Given the description of an element on the screen output the (x, y) to click on. 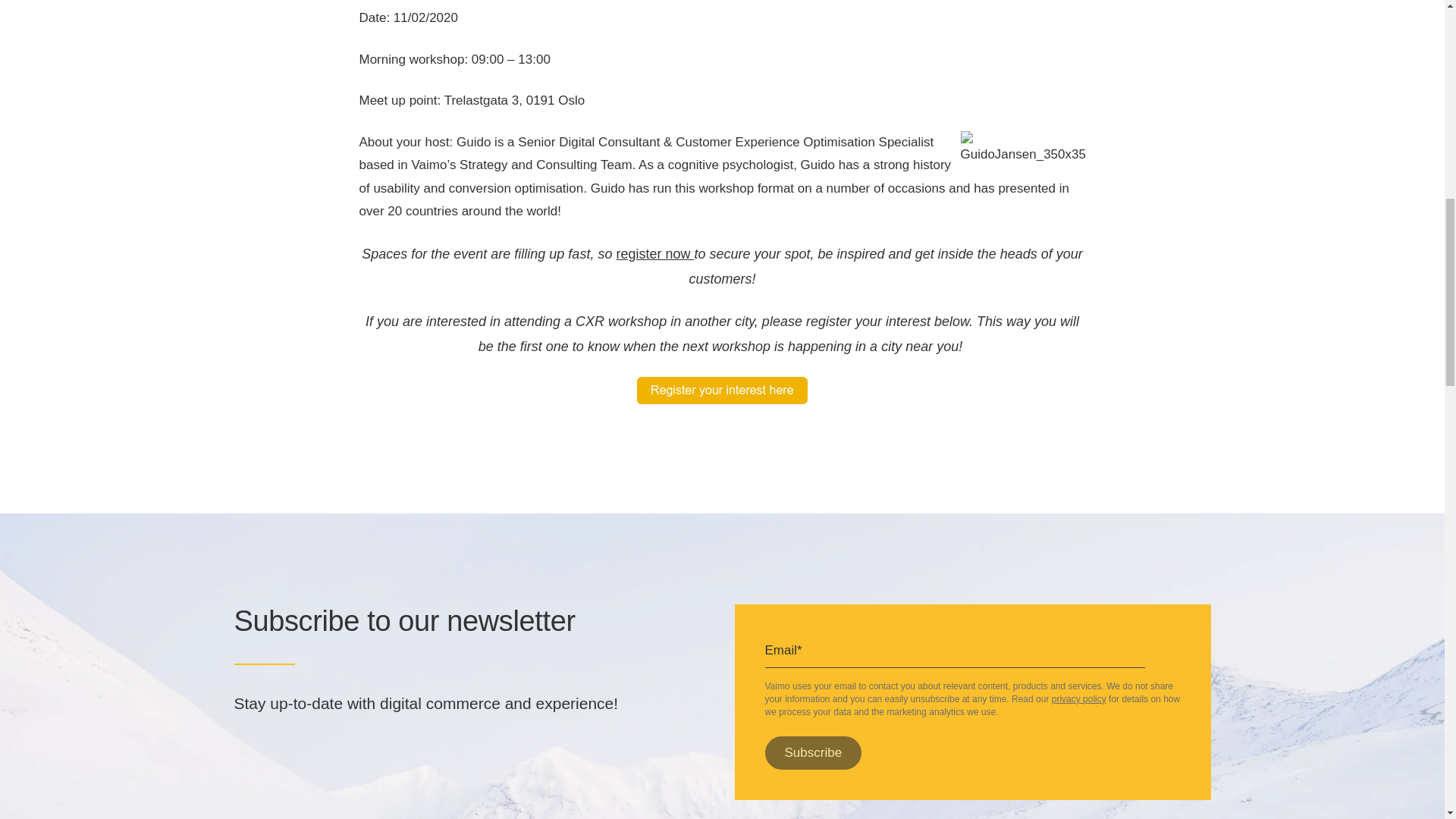
Subscribe (812, 752)
